Given the description of an element on the screen output the (x, y) to click on. 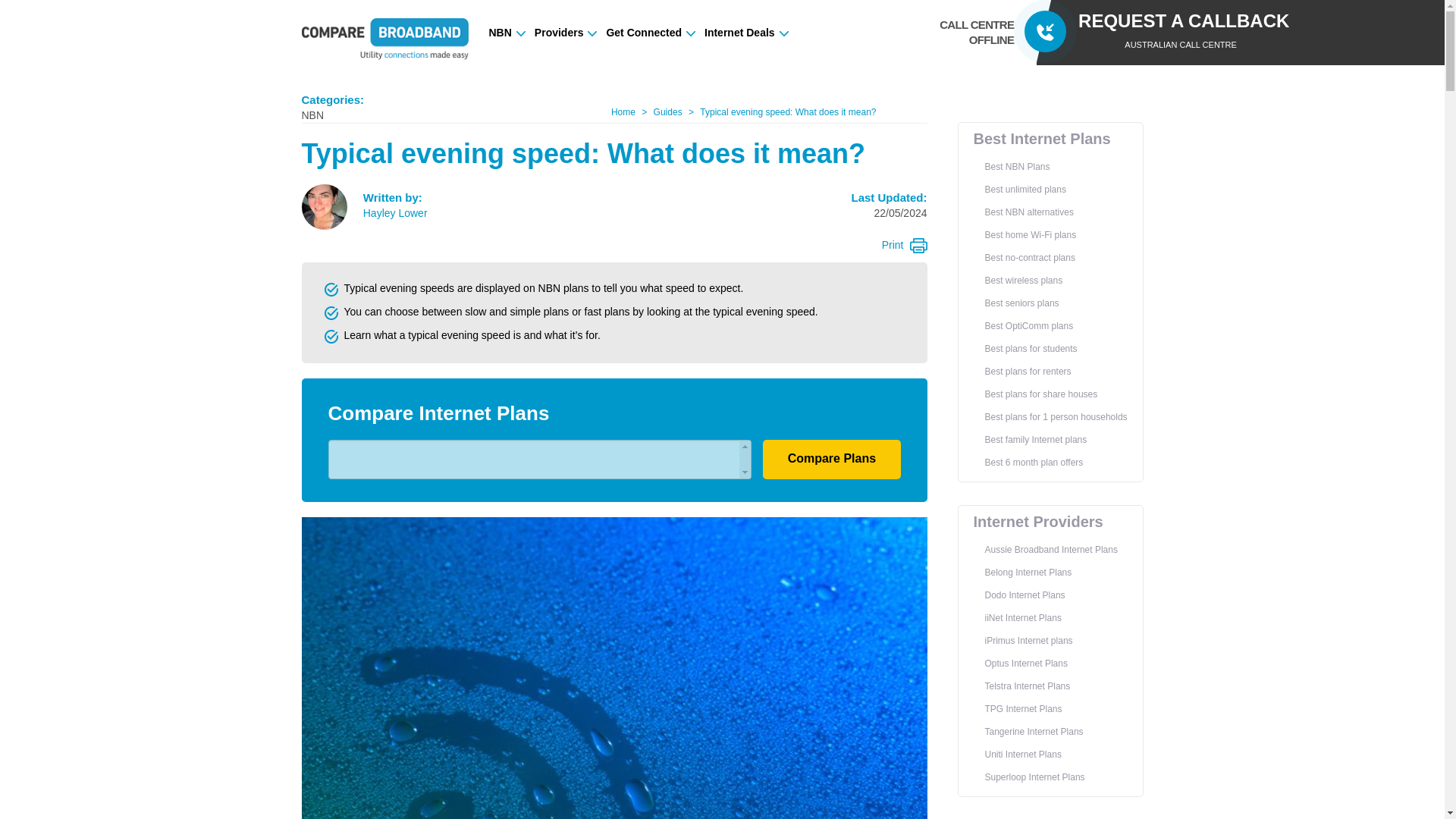
Providers (566, 32)
Get Connected (651, 32)
Internet Deals (746, 32)
